Given the description of an element on the screen output the (x, y) to click on. 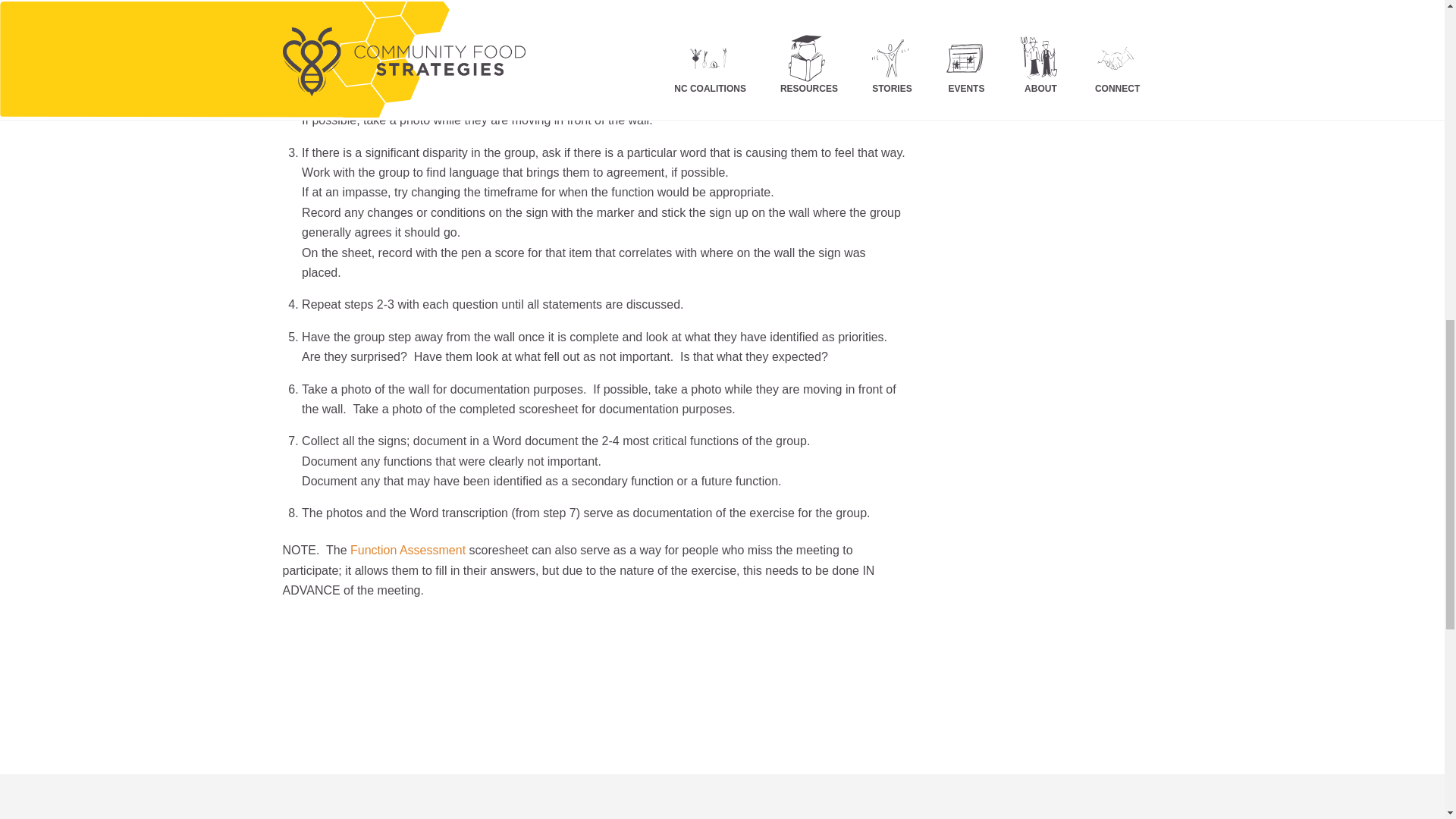
Function Assessment (407, 549)
